Given the description of an element on the screen output the (x, y) to click on. 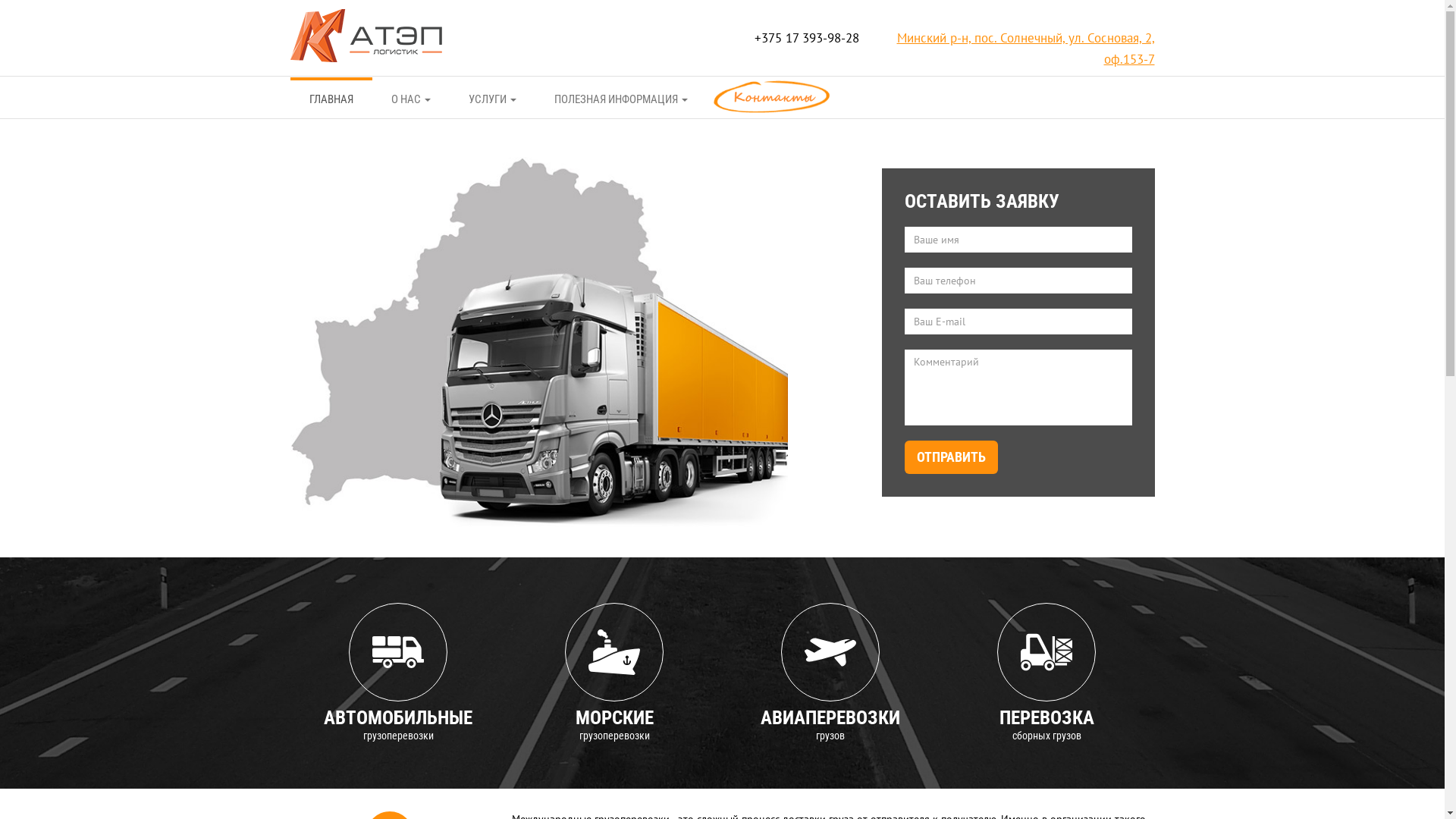
atep.by Element type: hover (365, 32)
